Given the description of an element on the screen output the (x, y) to click on. 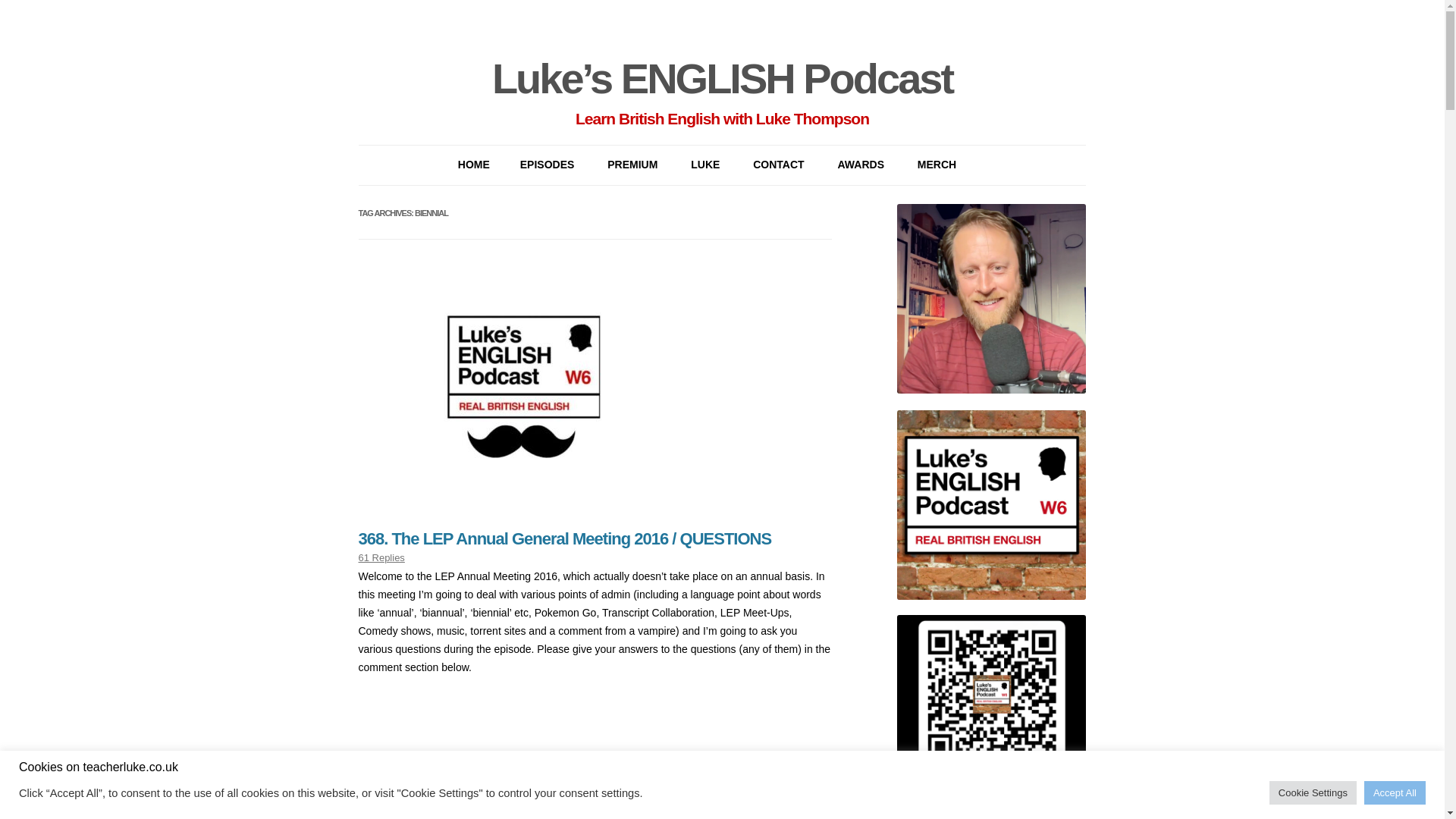
EMAIL LUKE (828, 200)
LUKE (704, 165)
61 Replies (381, 557)
HOME (473, 165)
CONTACT (777, 165)
MERCH (936, 165)
AWARDS (860, 165)
WHO IS LUKE? (766, 200)
EPISODES (547, 165)
PREMIUM (632, 165)
